Given the description of an element on the screen output the (x, y) to click on. 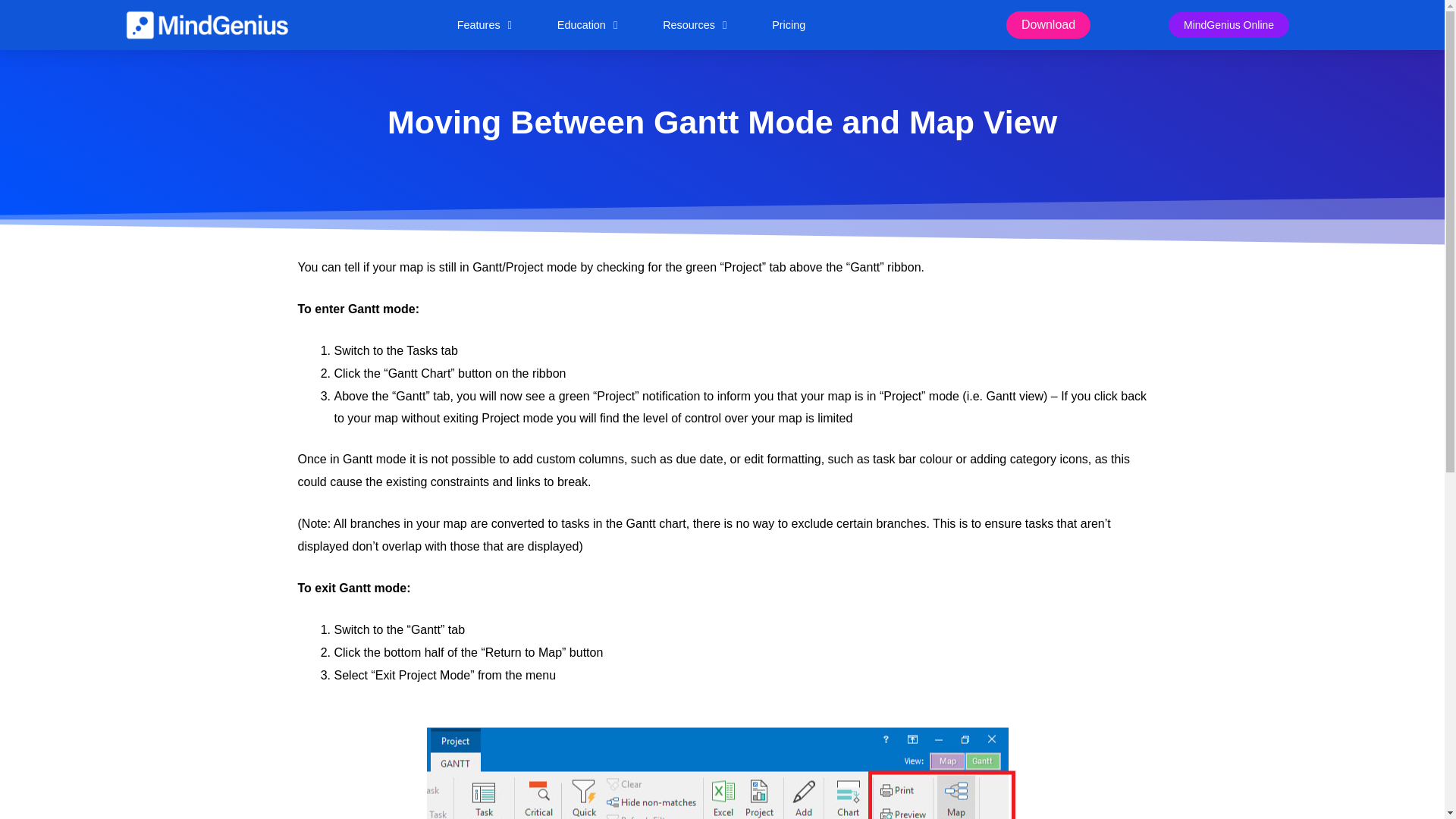
Resources (694, 24)
Education (587, 24)
Features (483, 24)
Pricing (788, 24)
